Given the description of an element on the screen output the (x, y) to click on. 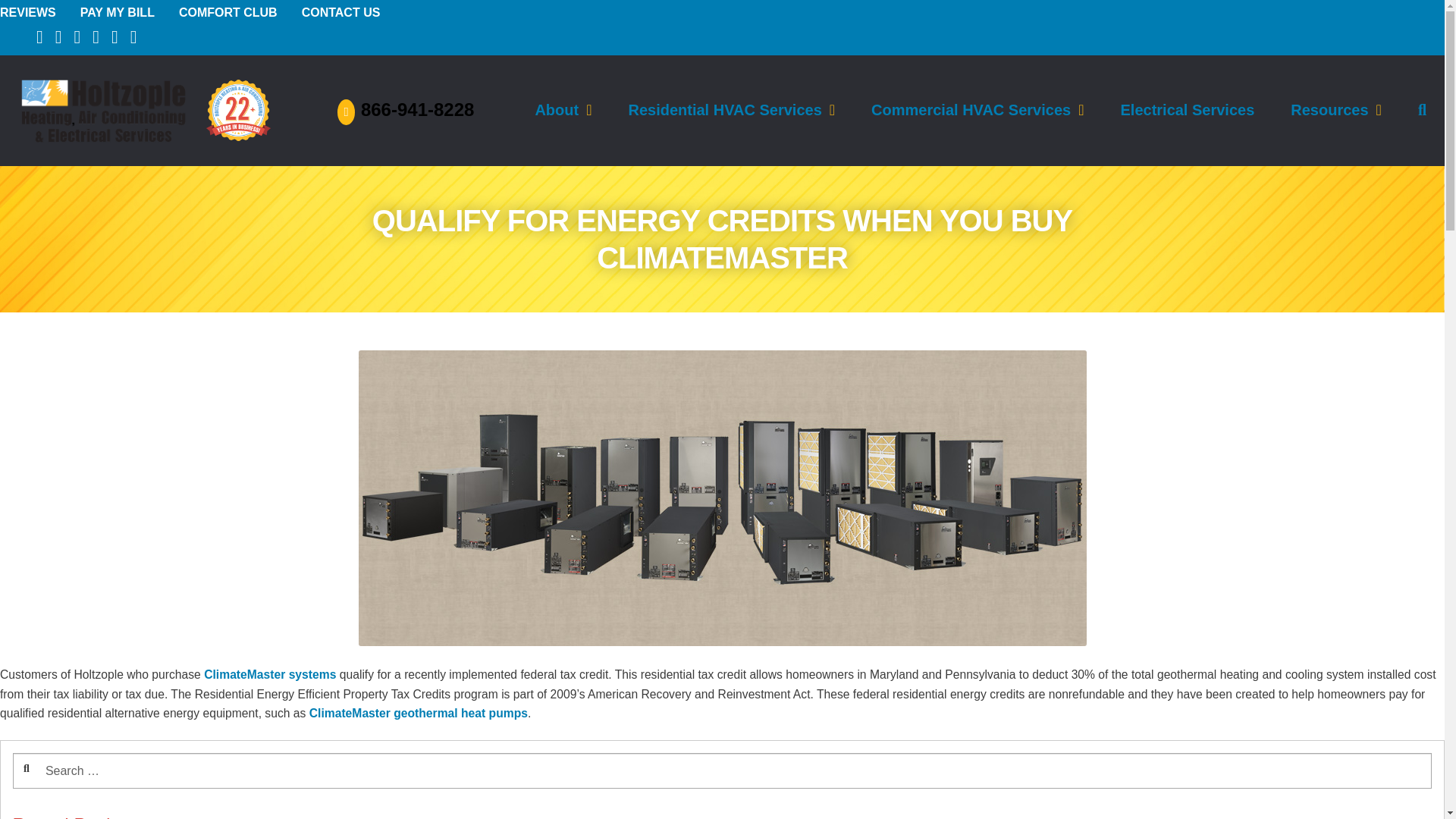
LinkedIn, open in a new tab (114, 36)
Call 866-941-8228 (405, 109)
ClimateMaster tax credits (269, 674)
REVIEWS (28, 11)
Facebook, open in a new tab (39, 36)
COMFORT CLUB (228, 11)
Search (64, 759)
Youtube, open in a new tab (96, 36)
climatemaster heat pumps (417, 712)
PAY MY BILL (117, 11)
866-941-8228 (405, 109)
Search (64, 759)
Instagram, open in a new tab (133, 36)
CONTACT US (340, 11)
